Given the description of an element on the screen output the (x, y) to click on. 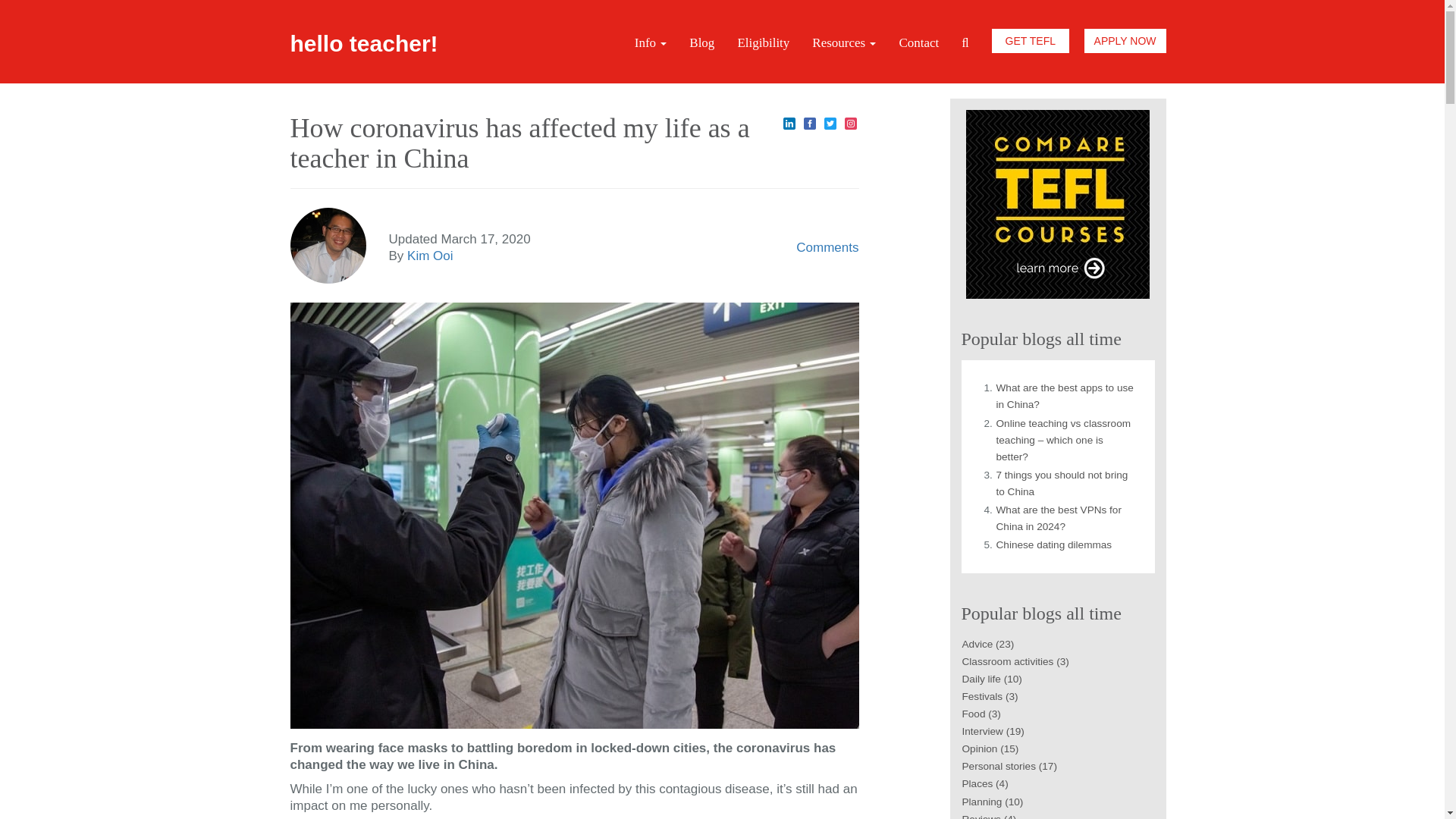
hello teacher! (364, 41)
APPLY NOW (1125, 40)
Comments (827, 247)
Eligibility (762, 43)
Blog (701, 43)
Info (650, 43)
Resources (843, 43)
GET TEFL (1029, 40)
Kim Ooi (429, 255)
Contact (918, 43)
